Given the description of an element on the screen output the (x, y) to click on. 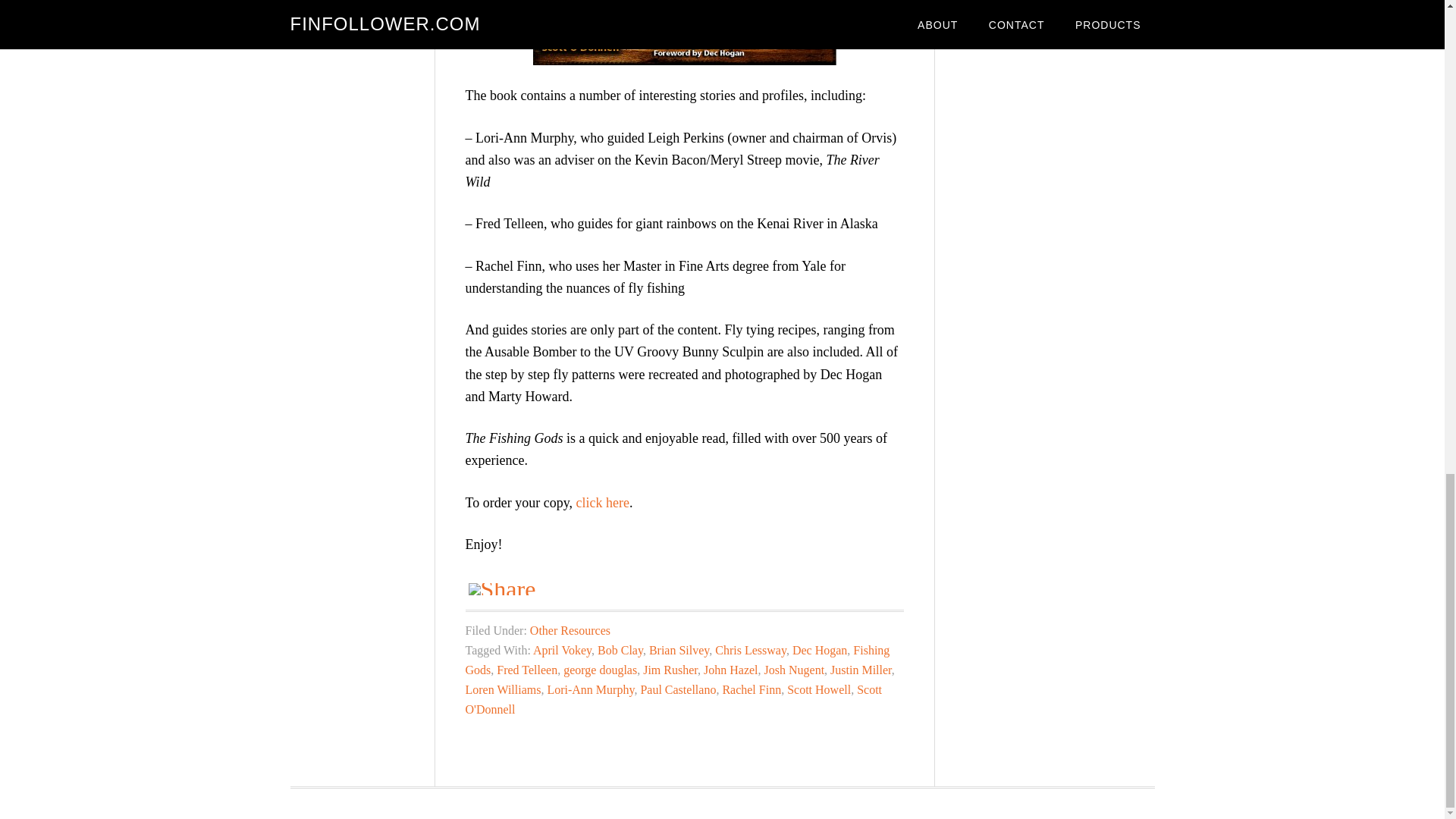
click here (602, 502)
Fred Telleen (526, 669)
April Vokey (561, 649)
Jim Rusher (670, 669)
Bob Clay (619, 649)
Josh Nugent (794, 669)
Loren Williams (503, 689)
Paul Castellano (678, 689)
Fishing Gods (677, 659)
Chris Lessway (750, 649)
